Given the description of an element on the screen output the (x, y) to click on. 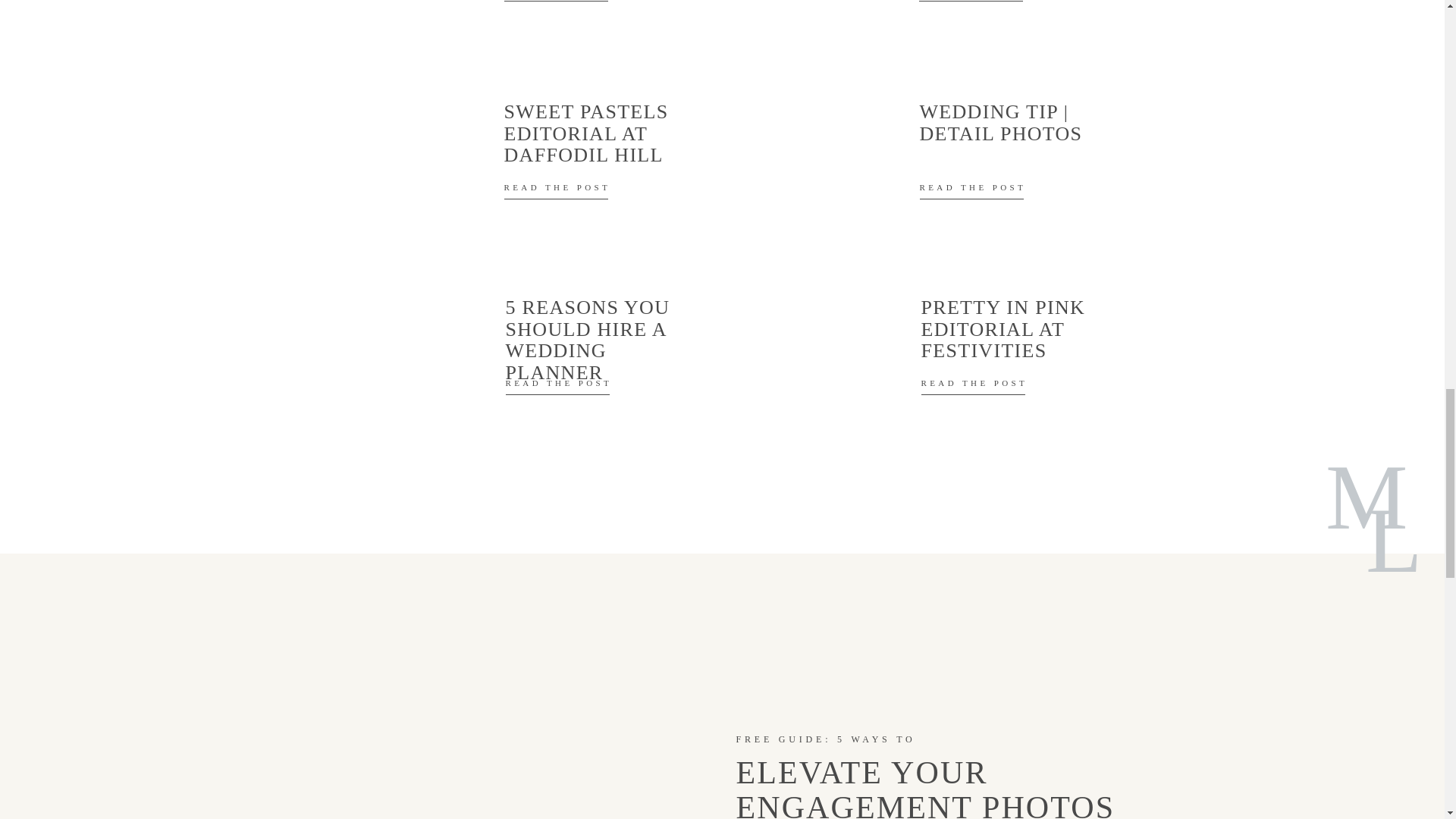
READ THE POST (976, 193)
READ THE POST (978, 388)
READ THE POST (976, 3)
PRETTY IN PINK EDITORIAL AT FESTIVITIES (1022, 329)
